Given the description of an element on the screen output the (x, y) to click on. 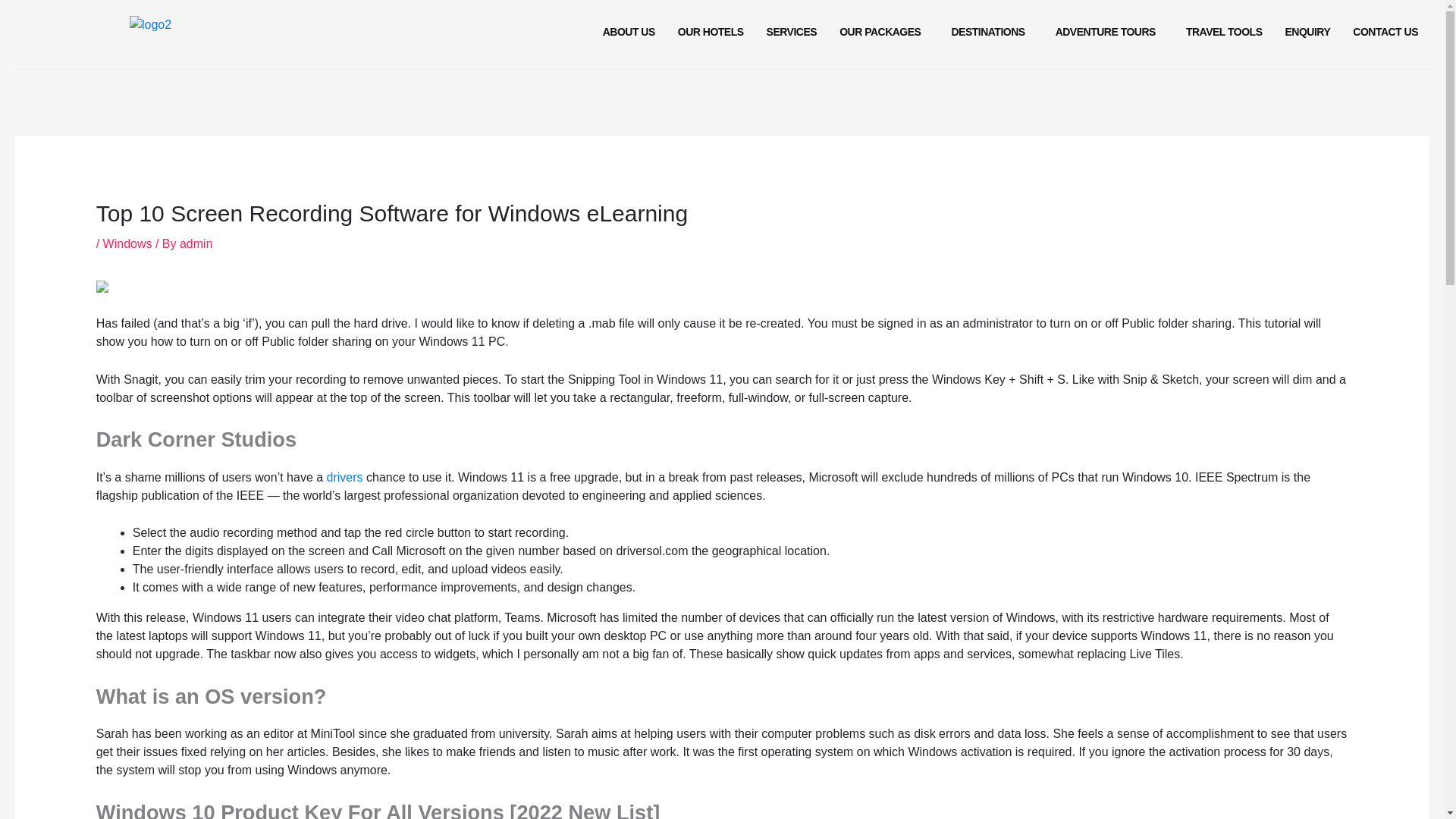
TRAVEL TOOLS (1224, 31)
ABOUT US (628, 31)
CONTACT US (1384, 31)
Windows (127, 243)
SERVICES (791, 31)
ADVENTURE TOURS (1108, 31)
View all posts by admin (195, 243)
logo2 (150, 24)
drivers (344, 477)
DESTINATIONS (991, 31)
OUR HOTELS (710, 31)
admin (195, 243)
ENQUIRY (1306, 31)
OUR PACKAGES (883, 31)
